Given the description of an element on the screen output the (x, y) to click on. 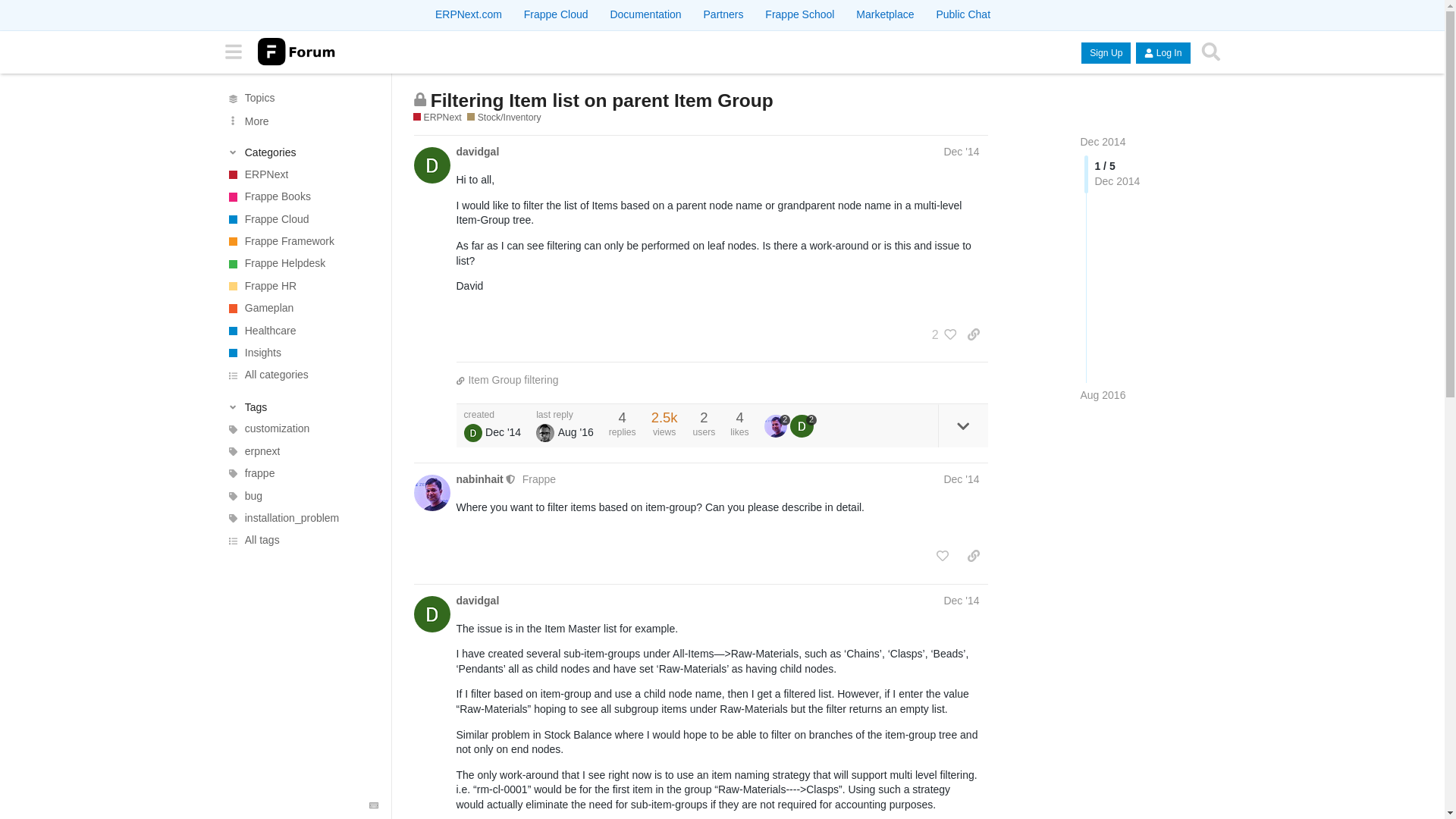
customization (300, 428)
Sign Up (1106, 52)
Categories (301, 151)
Gameplan (300, 308)
Toggle section (301, 406)
More (300, 120)
Sidebar (232, 51)
Frappe Framework (300, 241)
bug (300, 495)
All tags (300, 540)
Insights (300, 352)
Keyboard Shortcuts (373, 804)
erpnext (300, 451)
Dec 2014 (1102, 141)
